Given the description of an element on the screen output the (x, y) to click on. 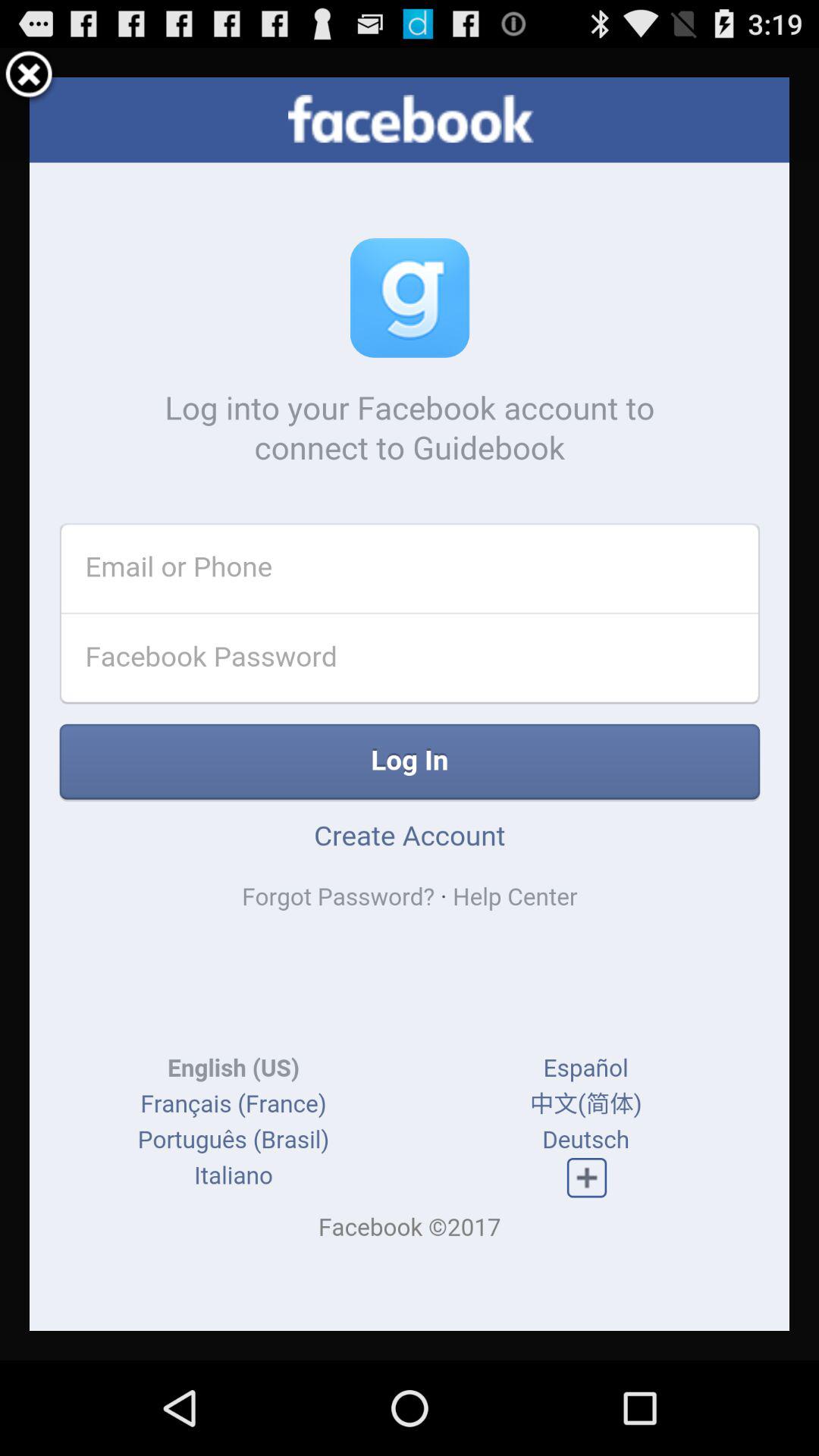
close button (29, 76)
